Given the description of an element on the screen output the (x, y) to click on. 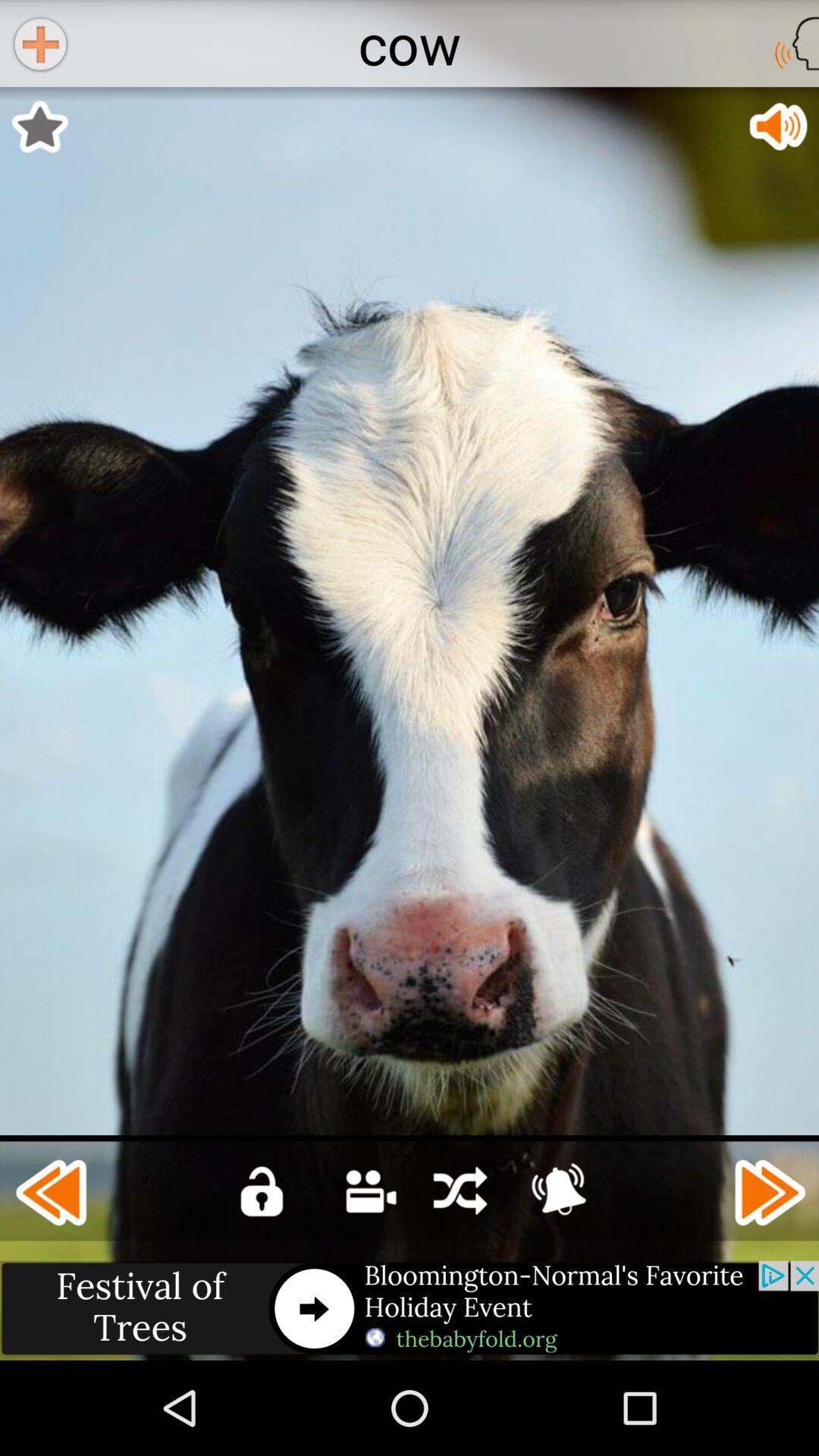
open app below cow item (778, 126)
